Given the description of an element on the screen output the (x, y) to click on. 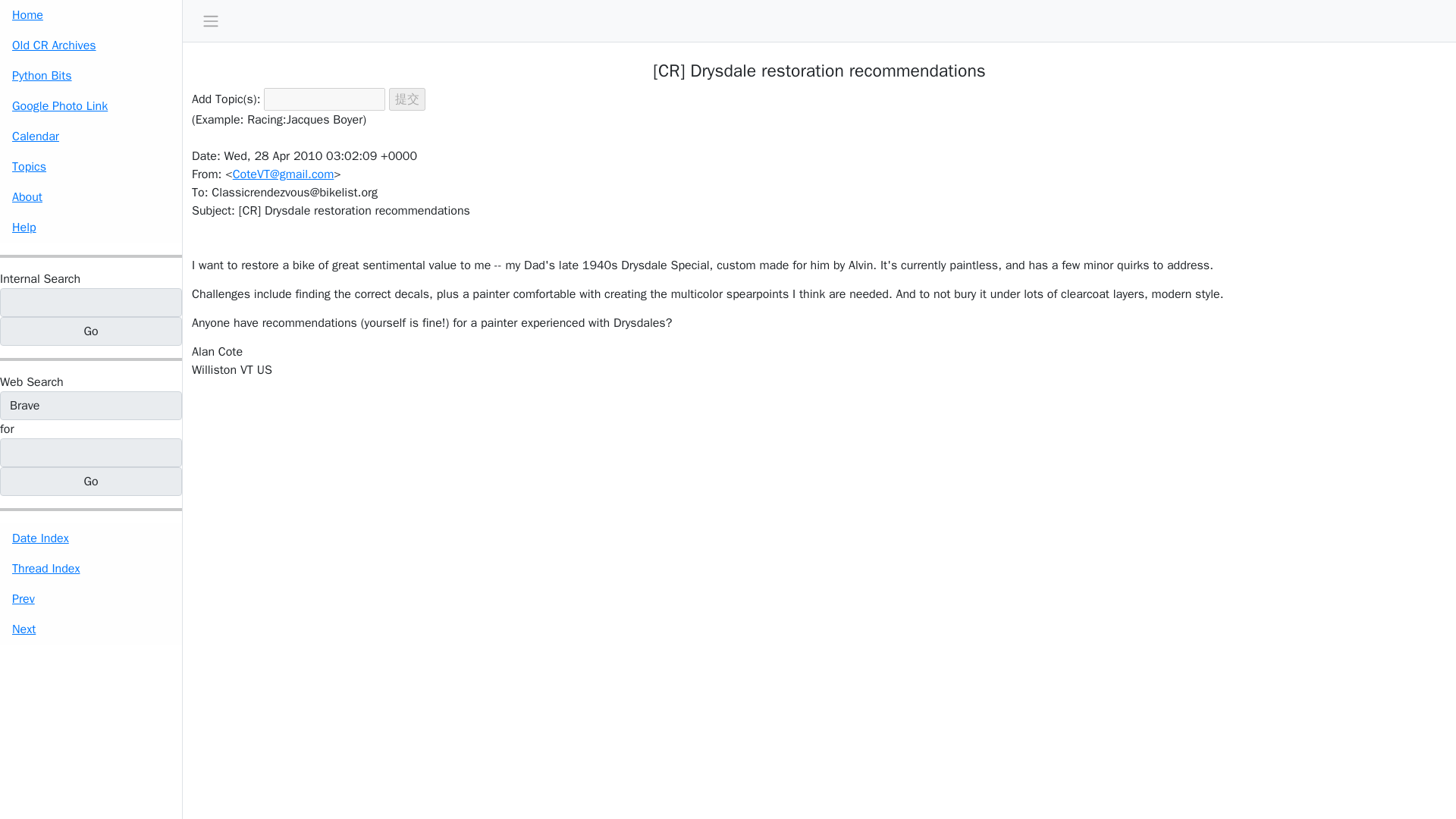
Next (91, 629)
Go (91, 481)
Help (91, 227)
Enter a word or phrase to search the archive. (40, 279)
About (91, 196)
Prev (91, 598)
Google Photo Link (91, 105)
Go (91, 330)
Date Index (91, 538)
Select your preferred search engine and enter a search term. (32, 382)
Home (91, 15)
Go (91, 481)
Go (91, 330)
Old CR Archives (91, 45)
Topics (91, 166)
